Given the description of an element on the screen output the (x, y) to click on. 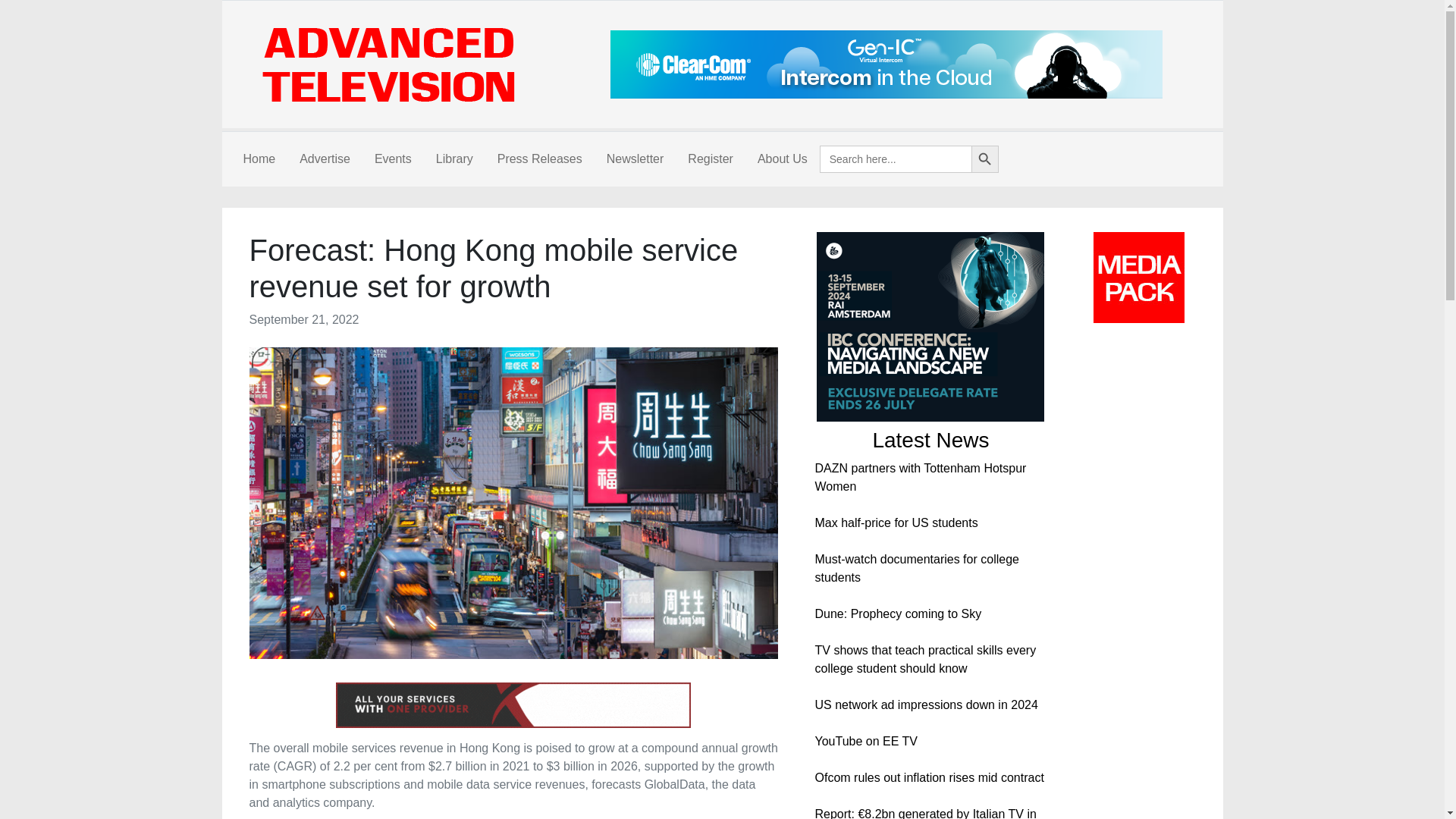
Max half-price for US students (894, 522)
Press Releases (539, 158)
Home (258, 158)
Newsletter (635, 158)
Library (453, 158)
Search Button (984, 158)
Register (710, 158)
Dune: Prophecy coming to Sky (897, 613)
Must-watch documentaries for college students (915, 567)
DAZN partners with Tottenham Hotspur Women (919, 477)
Events (392, 158)
About Us (782, 158)
Advertise (324, 158)
